Given the description of an element on the screen output the (x, y) to click on. 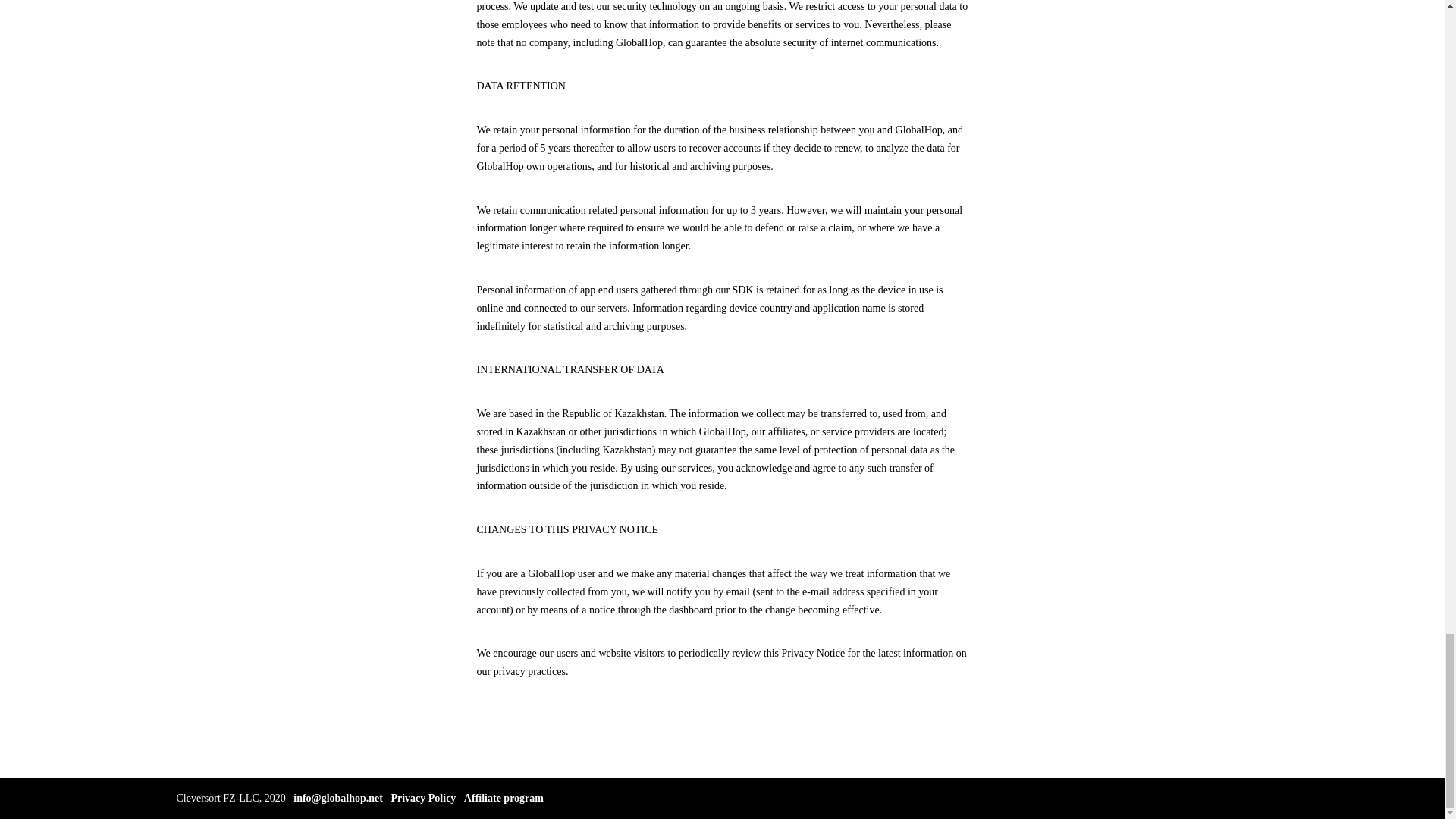
Privacy Policy (422, 797)
Affiliate program (503, 797)
